Given the description of an element on the screen output the (x, y) to click on. 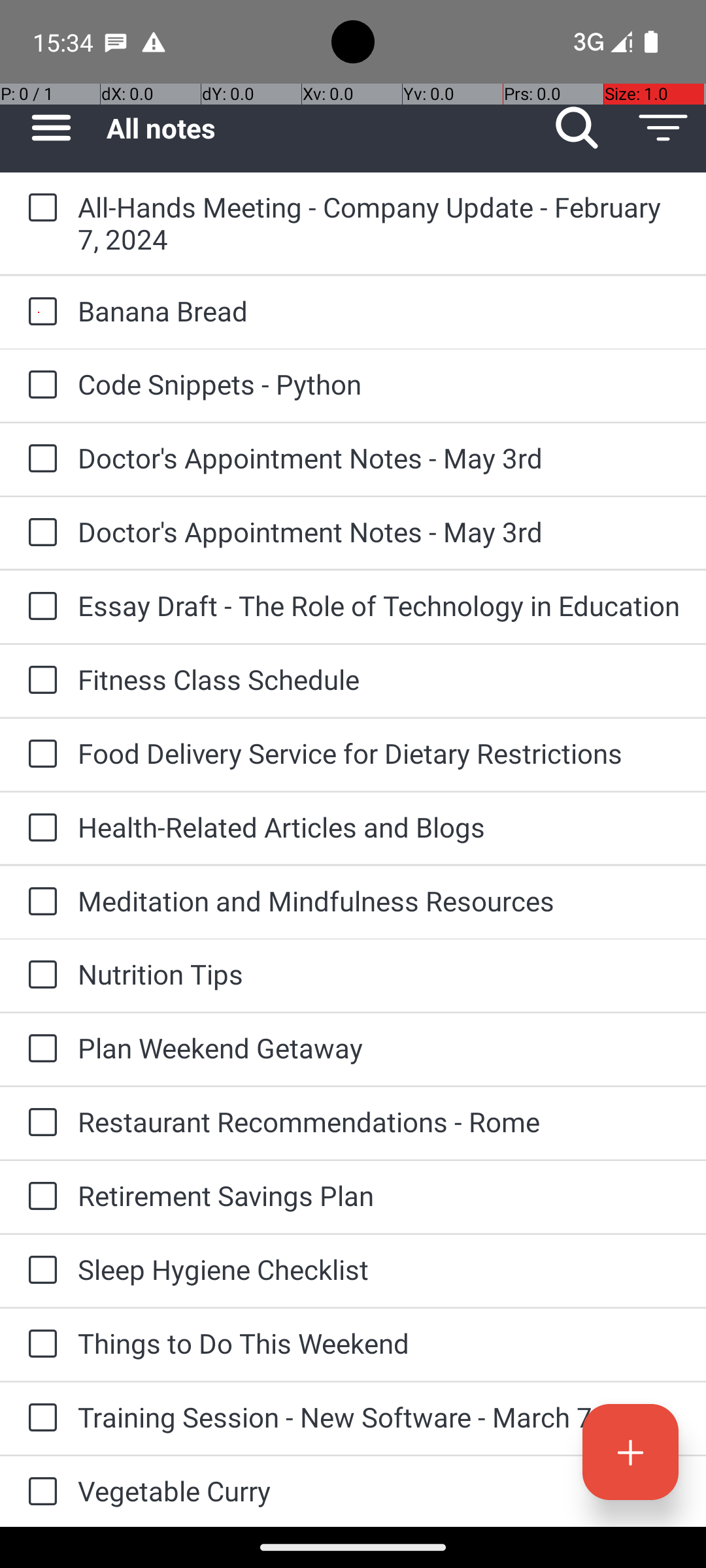
Sidebar Element type: android.widget.Button (44, 127)
All notes Element type: android.widget.TextView (320, 127)
Sort notes by Element type: android.widget.Button (663, 127)
Add new, collapsed Element type: android.widget.Button (630, 1452)
 Element type: android.widget.TextView (51, 127)
 Element type: android.widget.TextView (576, 127)
 Element type: android.widget.TextView (663, 127)
 Element type: android.widget.TextView (630, 1451)
to-do: All-Hands Meeting - Company Update - February 7, 2024 Element type: android.widget.CheckBox (38, 208)
All-Hands Meeting - Company Update - February 7, 2024 Element type: android.widget.TextView (378, 222)
to-do: Banana Bread Element type: android.widget.CheckBox (38, 312)
Banana Bread Element type: android.widget.TextView (378, 310)
to-do: Code Snippets - Python Element type: android.widget.CheckBox (38, 385)
Code Snippets - Python Element type: android.widget.TextView (378, 383)
to-do: Doctor's Appointment Notes - May 3rd Element type: android.widget.CheckBox (38, 459)
Doctor's Appointment Notes - May 3rd Element type: android.widget.TextView (378, 457)
to-do: Essay Draft - The Role of Technology in Education Element type: android.widget.CheckBox (38, 607)
Essay Draft - The Role of Technology in Education Element type: android.widget.TextView (378, 604)
to-do: Fitness Class Schedule Element type: android.widget.CheckBox (38, 680)
Fitness Class Schedule Element type: android.widget.TextView (378, 678)
to-do: Food Delivery Service for Dietary Restrictions Element type: android.widget.CheckBox (38, 754)
Food Delivery Service for Dietary Restrictions Element type: android.widget.TextView (378, 752)
to-do: Health-Related Articles and Blogs Element type: android.widget.CheckBox (38, 828)
Health-Related Articles and Blogs Element type: android.widget.TextView (378, 826)
to-do: Meditation and Mindfulness Resources Element type: android.widget.CheckBox (38, 902)
Meditation and Mindfulness Resources Element type: android.widget.TextView (378, 900)
to-do: Nutrition Tips Element type: android.widget.CheckBox (38, 975)
Nutrition Tips Element type: android.widget.TextView (378, 973)
to-do: Plan Weekend Getaway Element type: android.widget.CheckBox (38, 1049)
Plan Weekend Getaway Element type: android.widget.TextView (378, 1047)
to-do: Restaurant Recommendations - Rome Element type: android.widget.CheckBox (38, 1123)
Restaurant Recommendations - Rome Element type: android.widget.TextView (378, 1121)
to-do: Retirement Savings Plan Element type: android.widget.CheckBox (38, 1196)
Retirement Savings Plan Element type: android.widget.TextView (378, 1194)
to-do: Sleep Hygiene Checklist Element type: android.widget.CheckBox (38, 1270)
Sleep Hygiene Checklist Element type: android.widget.TextView (378, 1268)
to-do: Things to Do This Weekend Element type: android.widget.CheckBox (38, 1344)
Things to Do This Weekend Element type: android.widget.TextView (378, 1342)
to-do: Training Session - New Software - March 7, 2024 Element type: android.widget.CheckBox (38, 1418)
Training Session - New Software - March 7, 2024 Element type: android.widget.TextView (378, 1416)
to-do: Vegetable Curry Element type: android.widget.CheckBox (38, 1491)
Vegetable Curry Element type: android.widget.TextView (378, 1490)
